Given the description of an element on the screen output the (x, y) to click on. 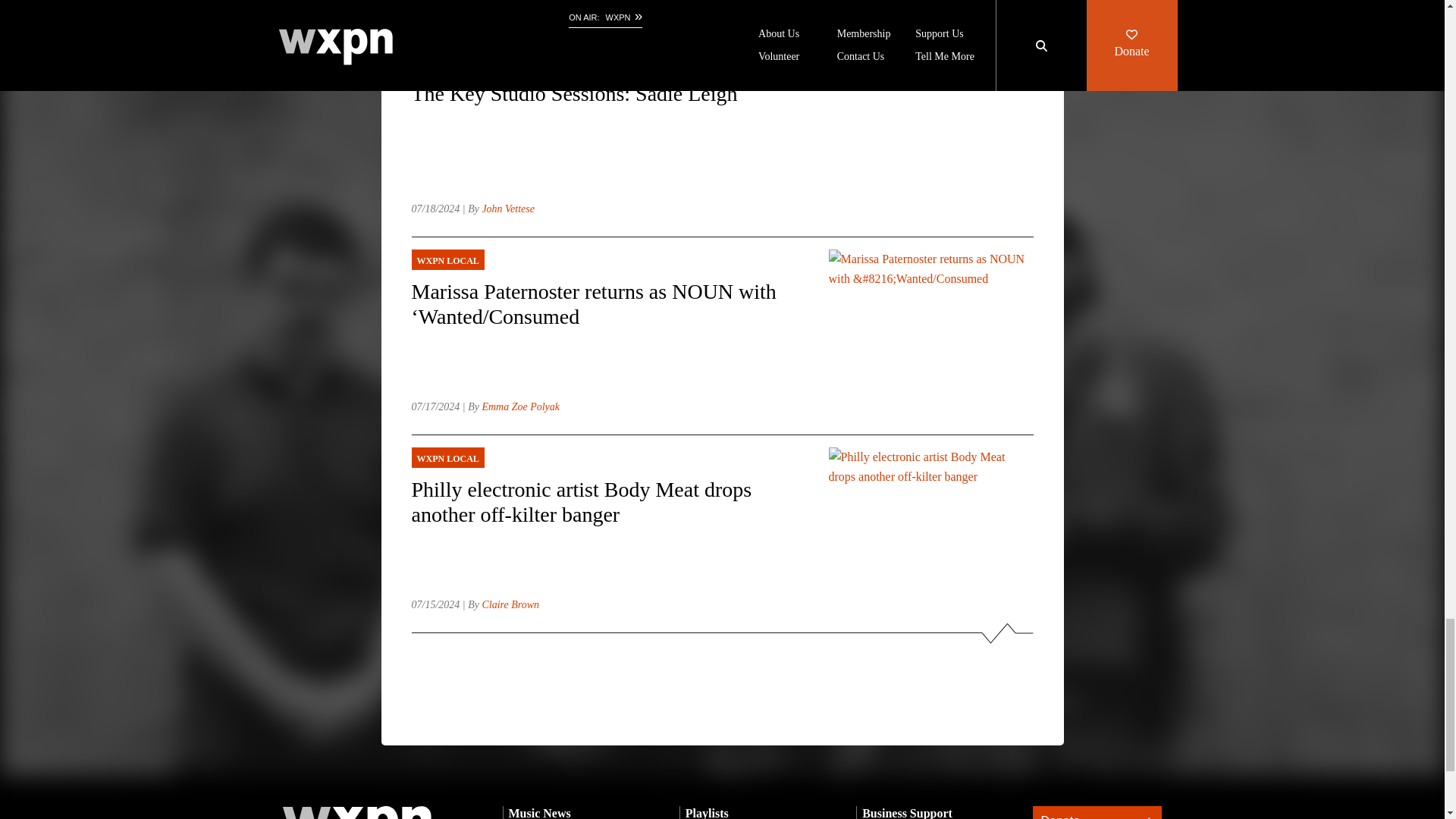
WXPN LOCAL (606, 260)
Paige Walter (509, 10)
THE KEY STUDIO SESSIONS (606, 61)
The Key Studio Sessions: Sadie Leigh (606, 93)
WXPN LOCAL (606, 457)
John Vettese (507, 208)
Emma Zoe Polyak (520, 406)
